Given the description of an element on the screen output the (x, y) to click on. 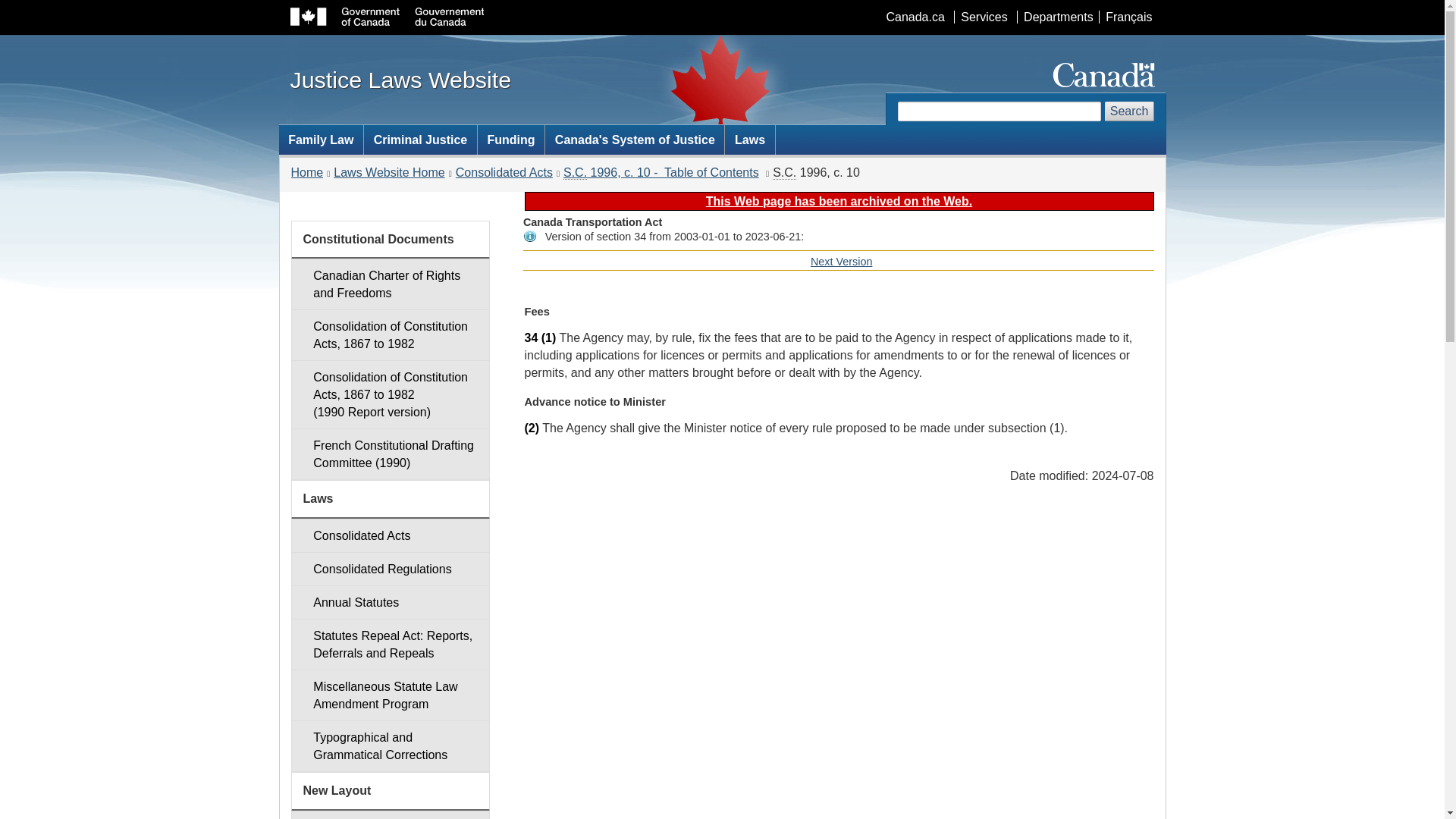
Criminal Justice (420, 139)
34 (531, 337)
S.C. 1996, c. 10 -  Table of Contents (660, 172)
Canada.ca (914, 16)
Statutes Repeal Act: Reports, Deferrals and Repeals (841, 261)
Skip to main content (390, 644)
Services (725, 11)
Consolidated Regulations and Orders (983, 16)
Search (390, 569)
